Given the description of an element on the screen output the (x, y) to click on. 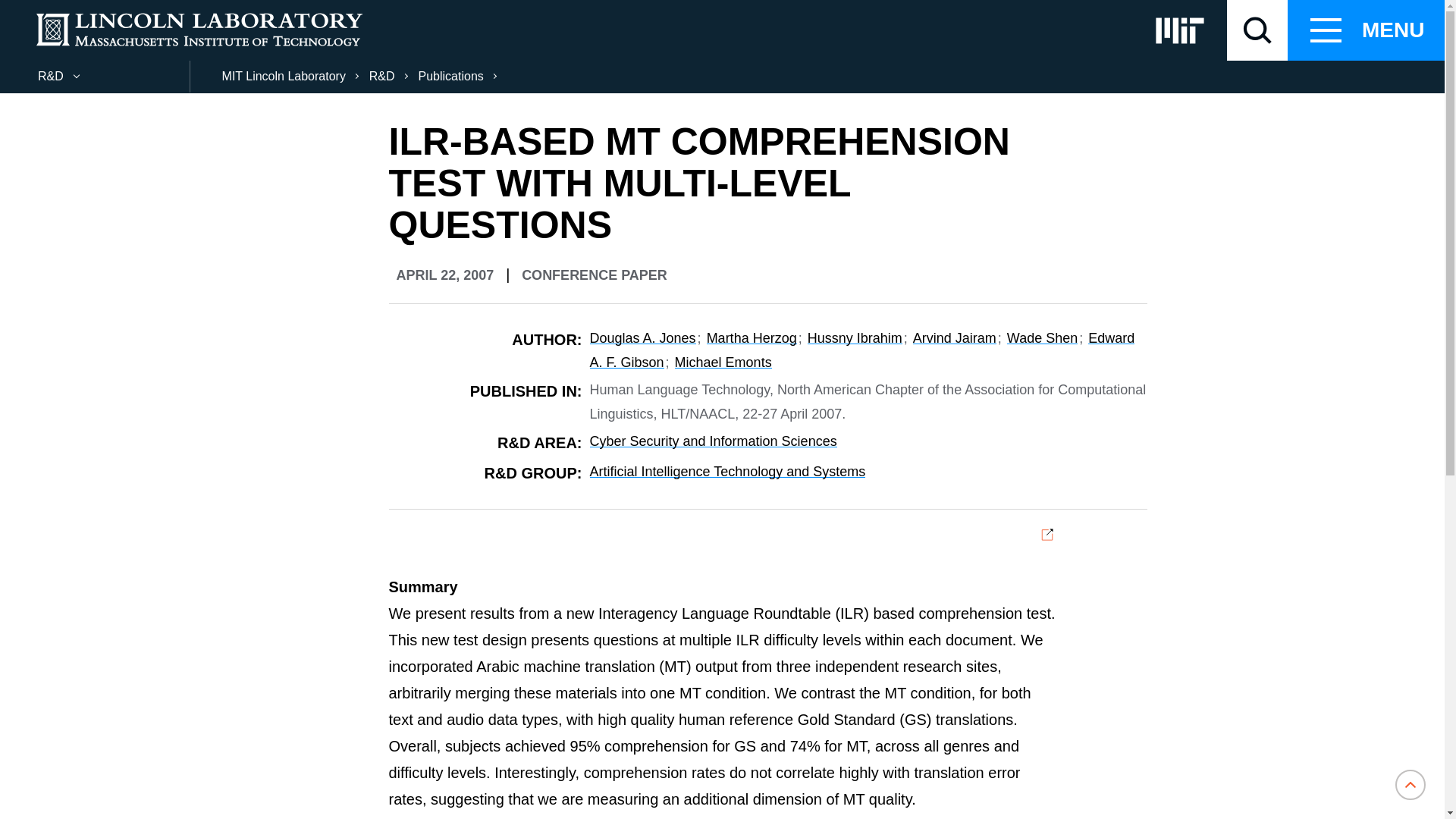
Search (29, 11)
Toggle search form (1257, 30)
